Given the description of an element on the screen output the (x, y) to click on. 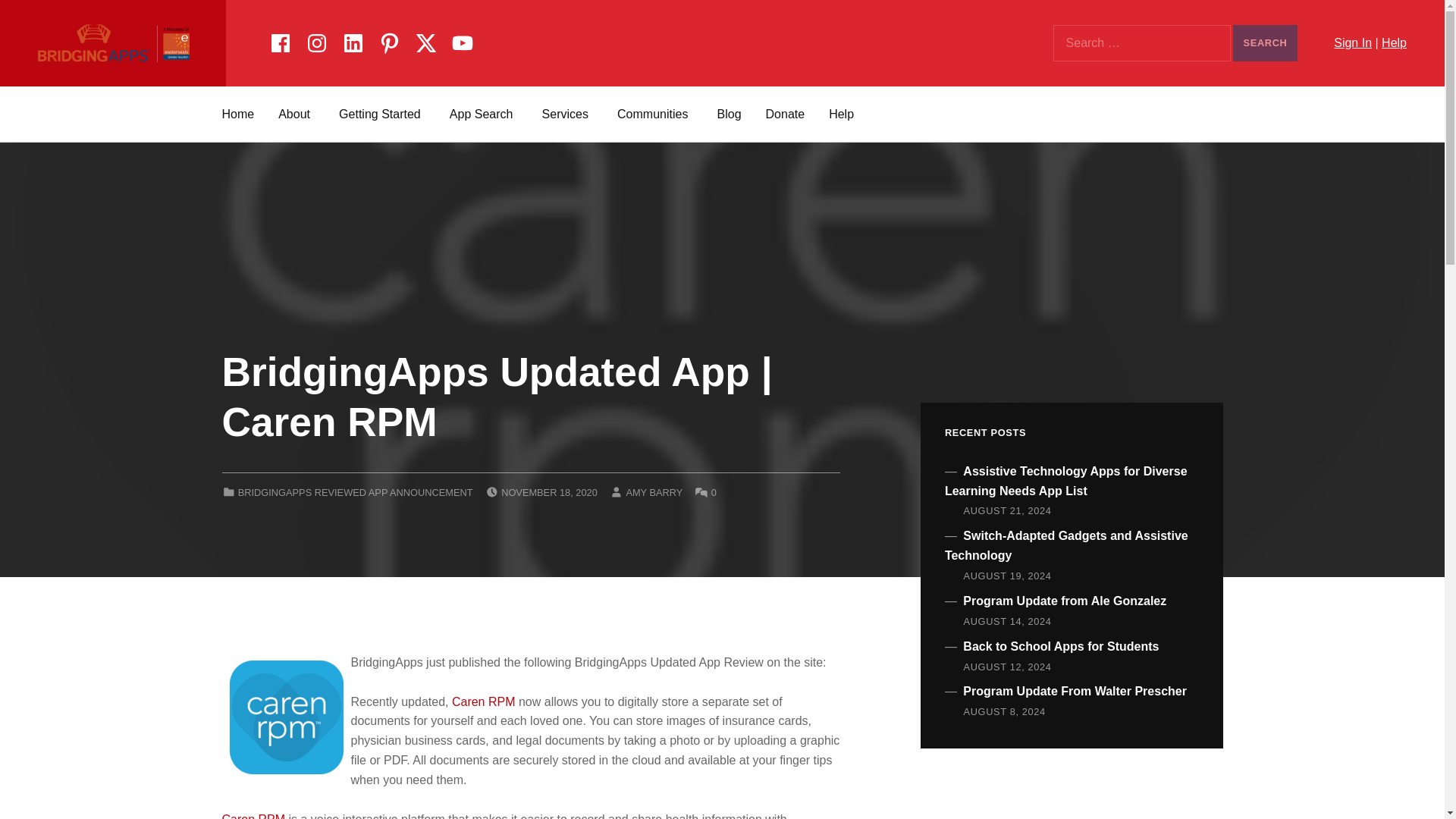
Search (1265, 43)
Services (566, 114)
Getting Started (382, 114)
LinkedIn (352, 40)
Sign In (1352, 42)
Search (1265, 43)
Posted on: November 18, 2020 (548, 491)
Instagram (316, 40)
Twitter (425, 40)
Help (1393, 42)
